Given the description of an element on the screen output the (x, y) to click on. 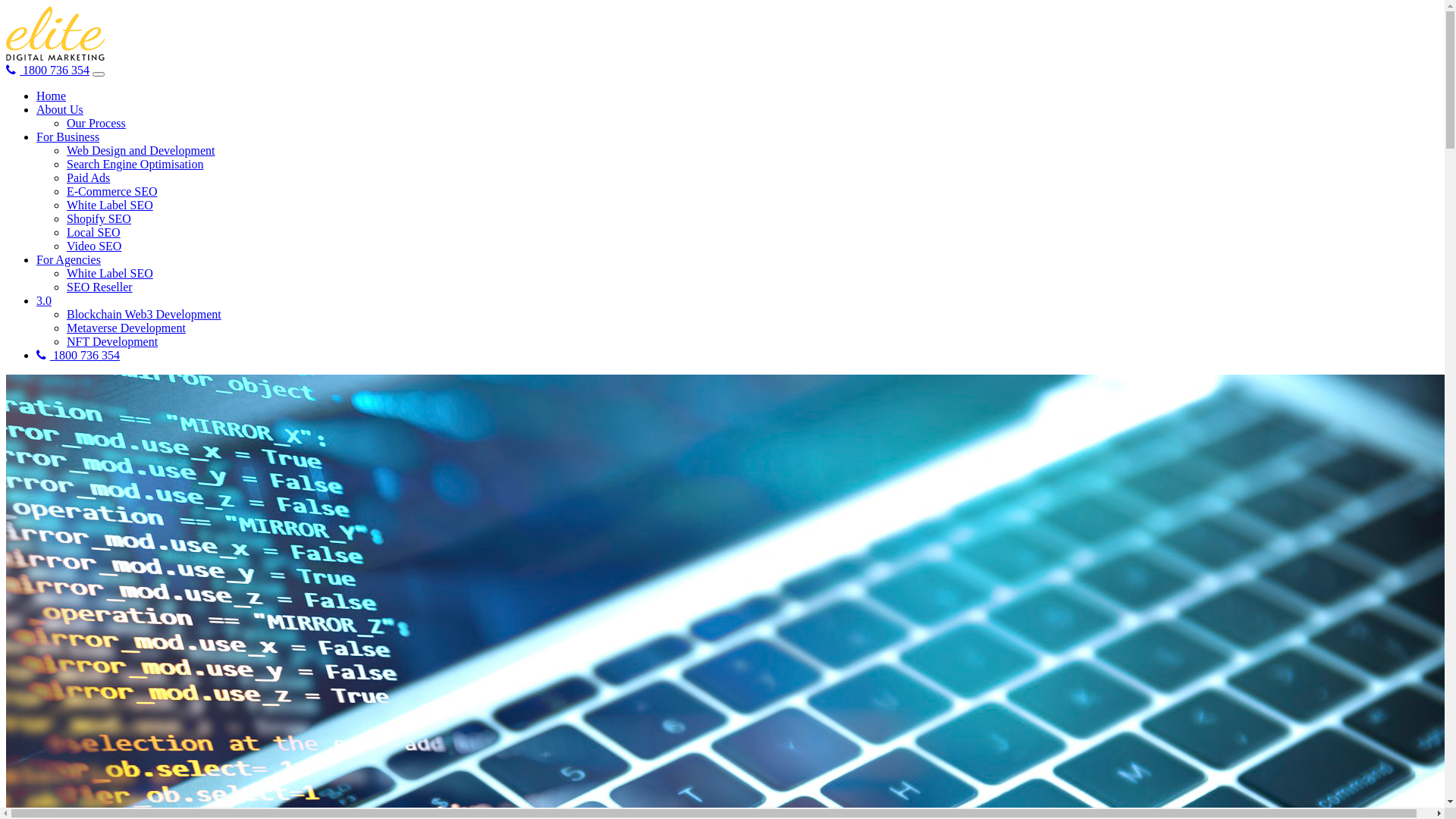
White Label SEO Element type: text (109, 204)
Web Design and Development Element type: text (140, 150)
1800 736 354 Element type: text (47, 69)
Search Engine Optimisation Element type: text (134, 163)
White Label SEO Element type: text (109, 272)
For Business Element type: text (67, 136)
Video SEO Element type: text (93, 245)
1800 736 354 Element type: text (77, 354)
3.0 Element type: text (43, 300)
E-Commerce SEO Element type: text (111, 191)
Metaverse Development Element type: text (125, 327)
For Agencies Element type: text (68, 259)
Local SEO Element type: text (93, 231)
Shopify SEO Element type: text (98, 218)
Blockchain Web3 Development Element type: text (143, 313)
Elite Digital Marketing Element type: hover (55, 33)
Home Element type: text (50, 95)
Paid Ads Element type: text (87, 177)
About Us Element type: text (59, 109)
Our Process Element type: text (95, 122)
SEO Reseller Element type: text (99, 286)
NFT Development Element type: text (111, 341)
